Given the description of an element on the screen output the (x, y) to click on. 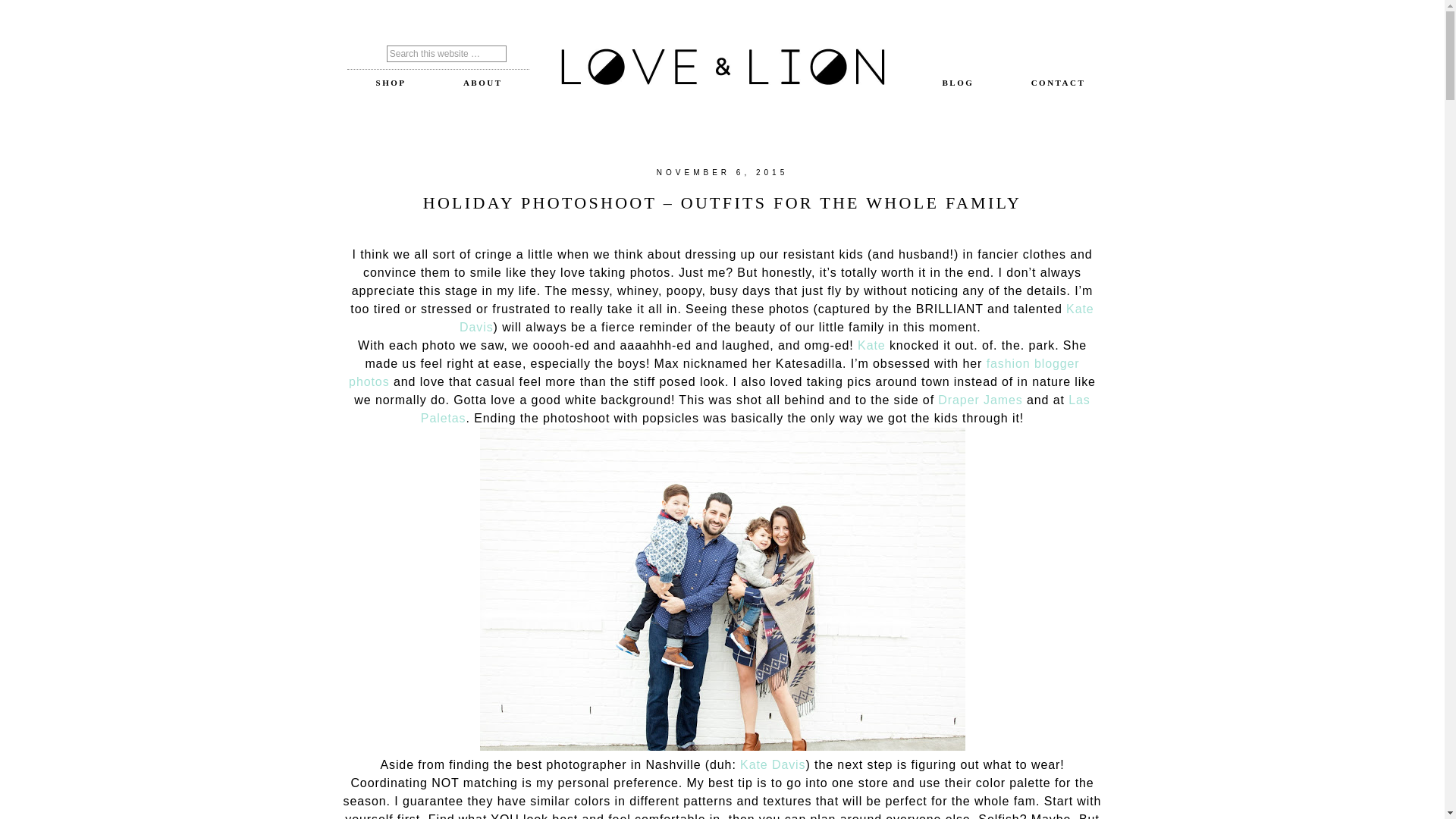
SHOP (390, 82)
Kate Davis (772, 764)
Kate Davis (777, 317)
BLOG (958, 82)
Kate (871, 345)
Las Paletas (755, 409)
CONTACT (1058, 82)
ABOUT (482, 82)
Draper James (979, 399)
LOVE AND LION (722, 68)
fashion blogger photos (714, 372)
